Given the description of an element on the screen output the (x, y) to click on. 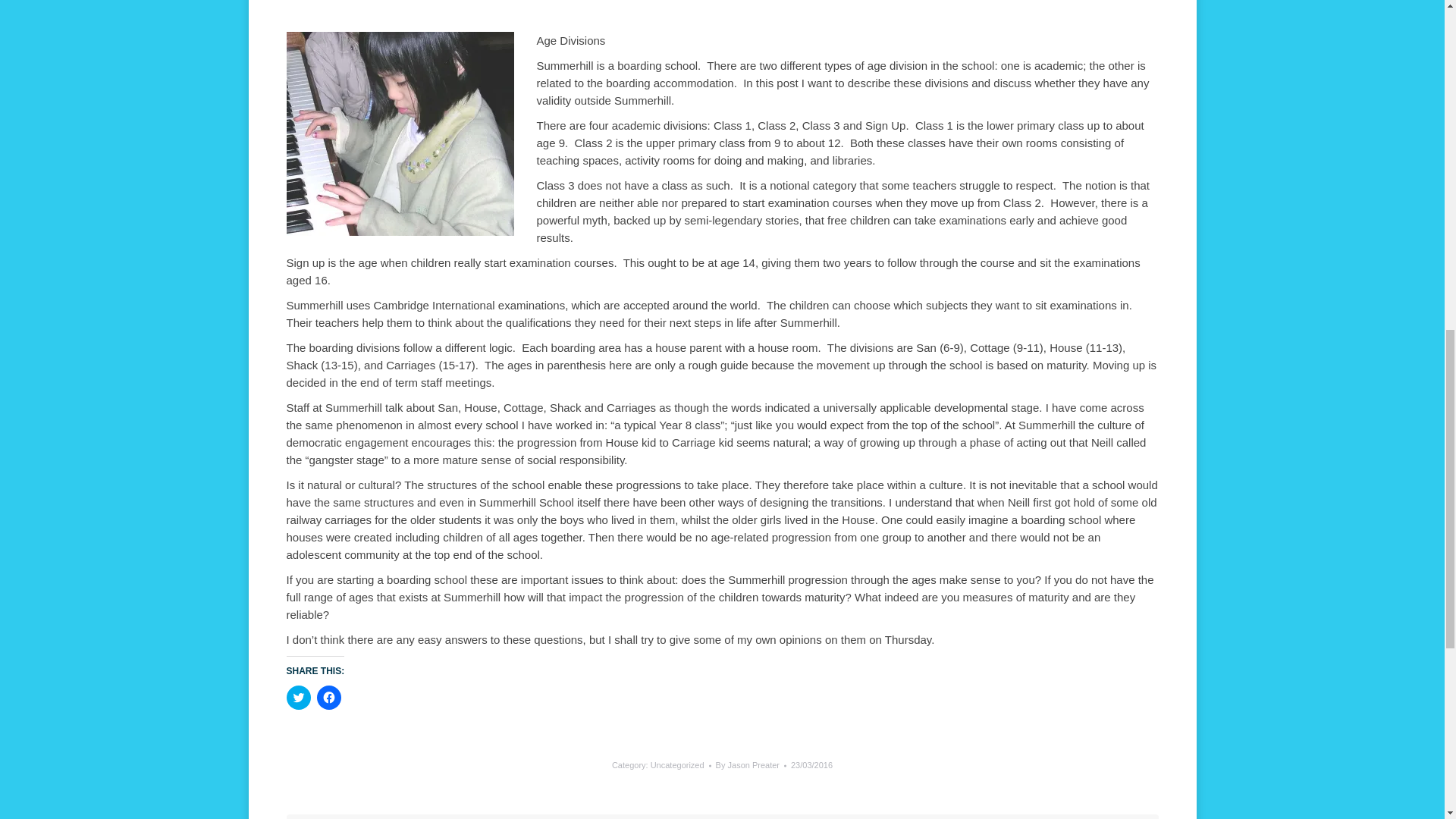
View all posts by Jason Preater (751, 765)
By Jason Preater (751, 765)
10:17 pm (811, 765)
Click to share on Facebook (328, 697)
Click to share on Twitter (298, 697)
Uncategorized (677, 764)
